Given the description of an element on the screen output the (x, y) to click on. 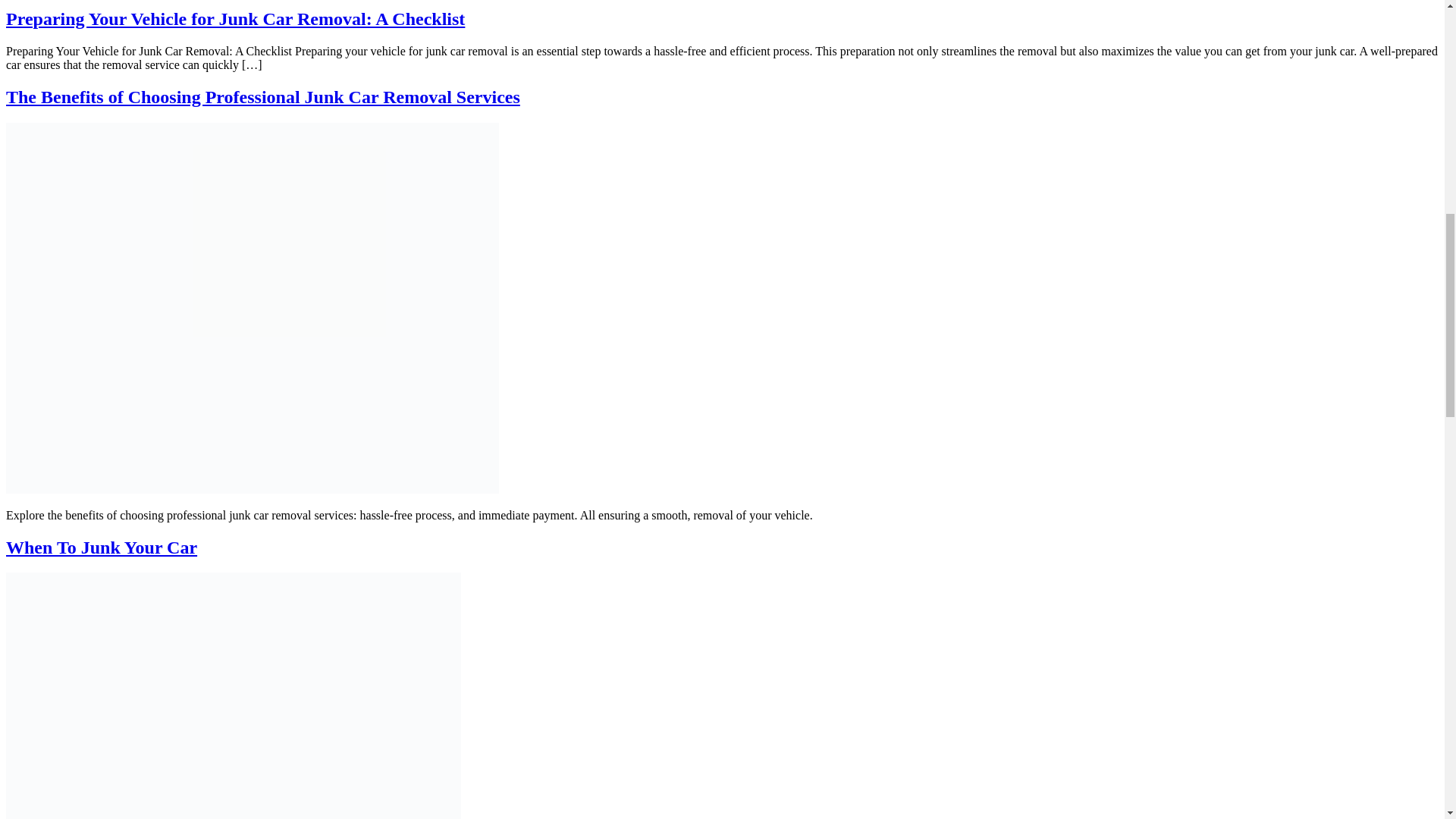
When To Junk Your Car (100, 547)
Preparing Your Vehicle for Junk Car Removal: A Checklist (234, 18)
